Given the description of an element on the screen output the (x, y) to click on. 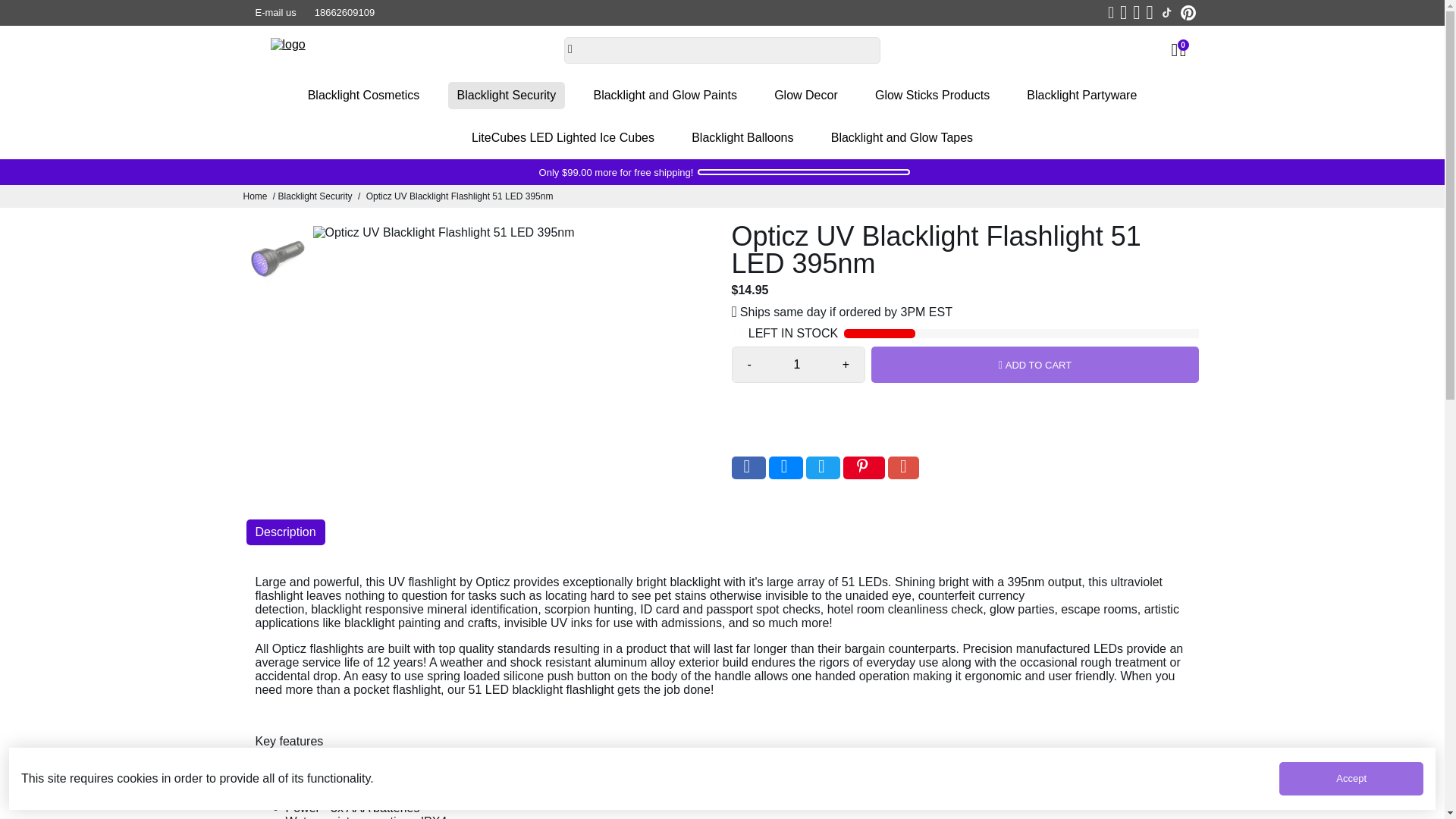
Blacklight Security (507, 95)
18662609109 (344, 12)
Home (254, 195)
1 (797, 364)
E-mail us (274, 12)
Blacklight Cosmetics (363, 95)
